Given the description of an element on the screen output the (x, y) to click on. 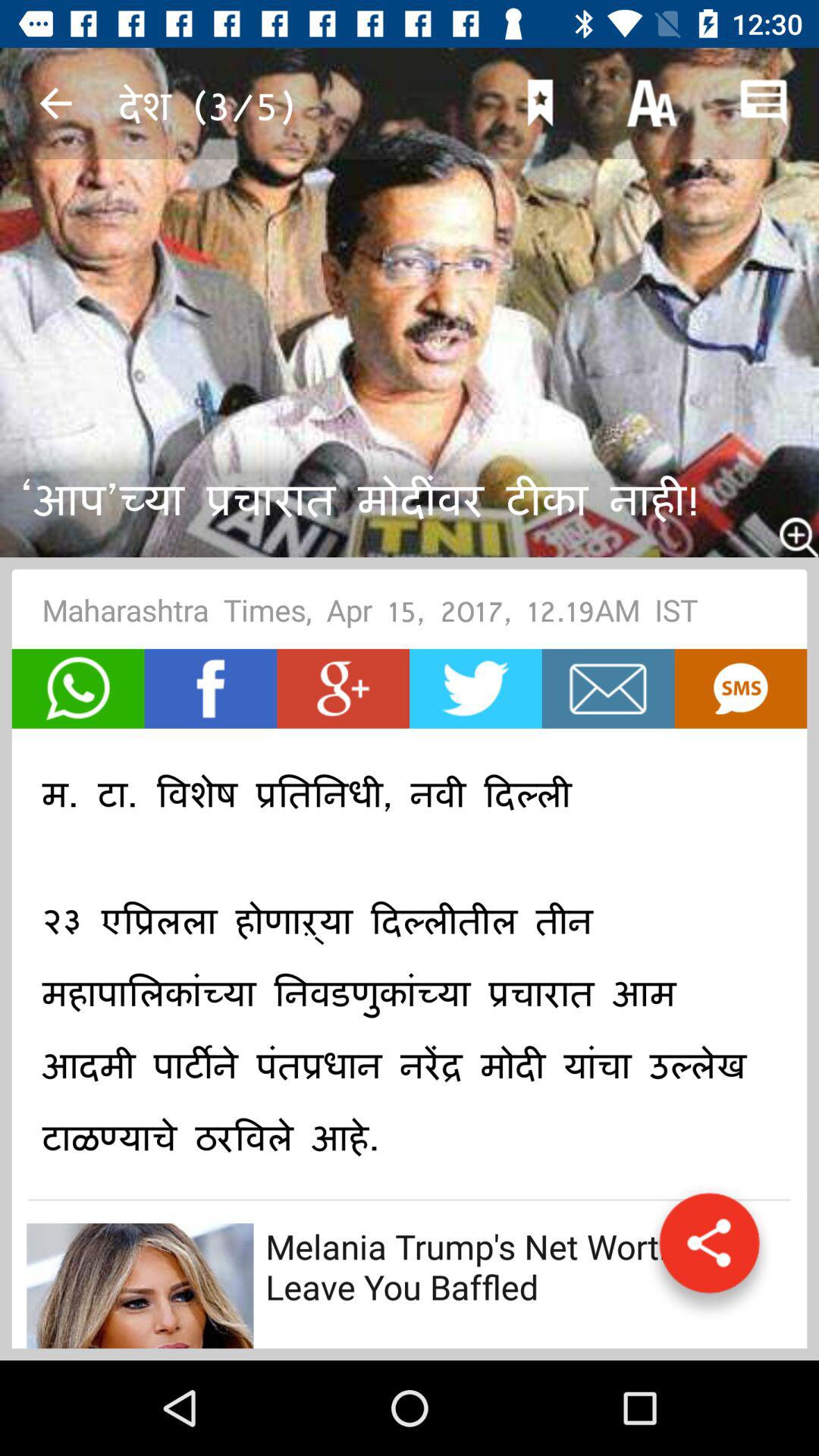
google (342, 688)
